Given the description of an element on the screen output the (x, y) to click on. 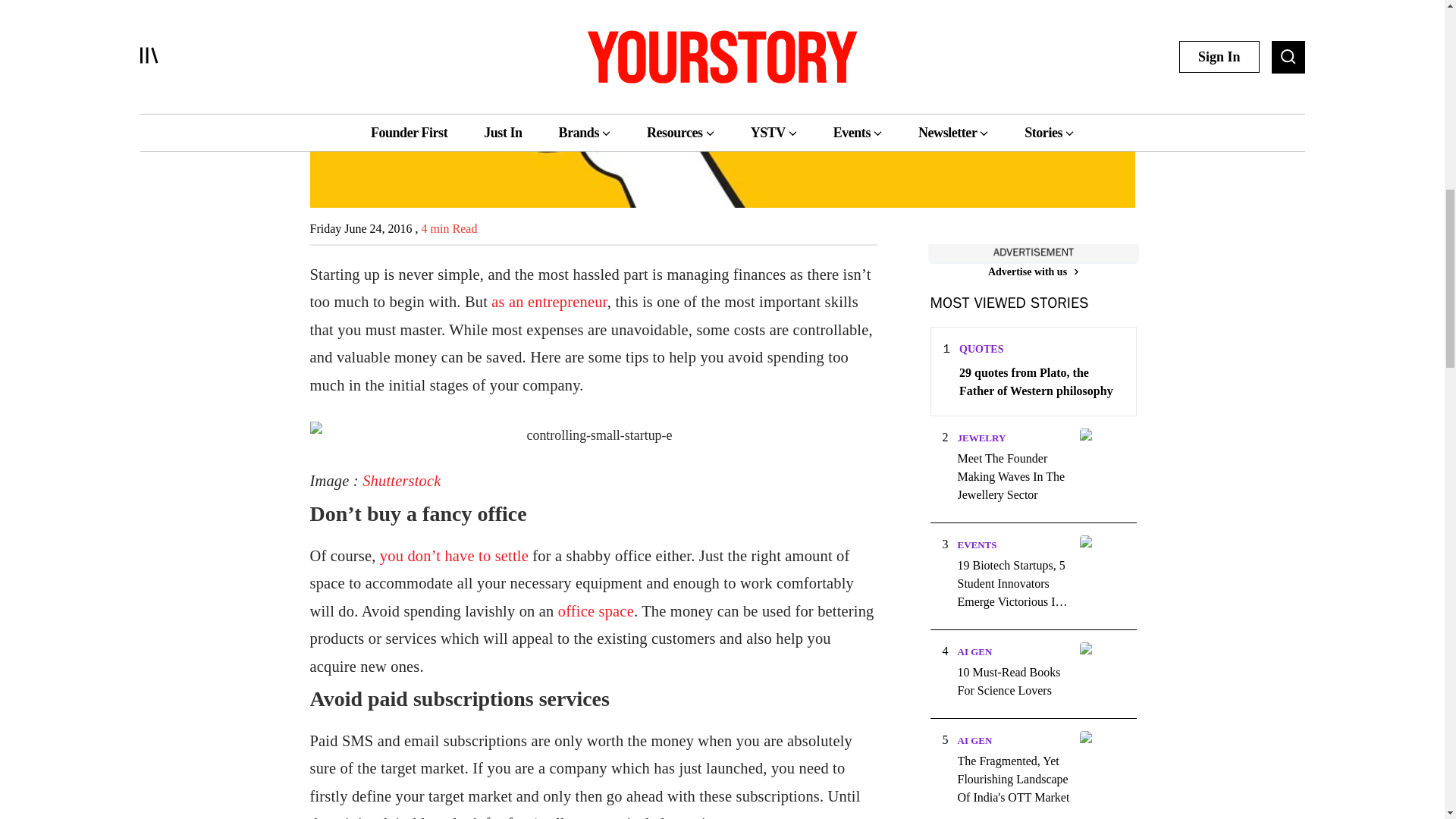
office space (595, 610)
QUOTES (981, 348)
Advertise with us (1032, 271)
as an entrepreneur (549, 301)
EVENTS (975, 544)
29 quotes from Plato, the Father of Western philosophy (1040, 381)
Shutterstock (401, 480)
Meet The Founder Making Waves In The Jewellery Sector (1013, 476)
JEWELRY (981, 437)
